Given the description of an element on the screen output the (x, y) to click on. 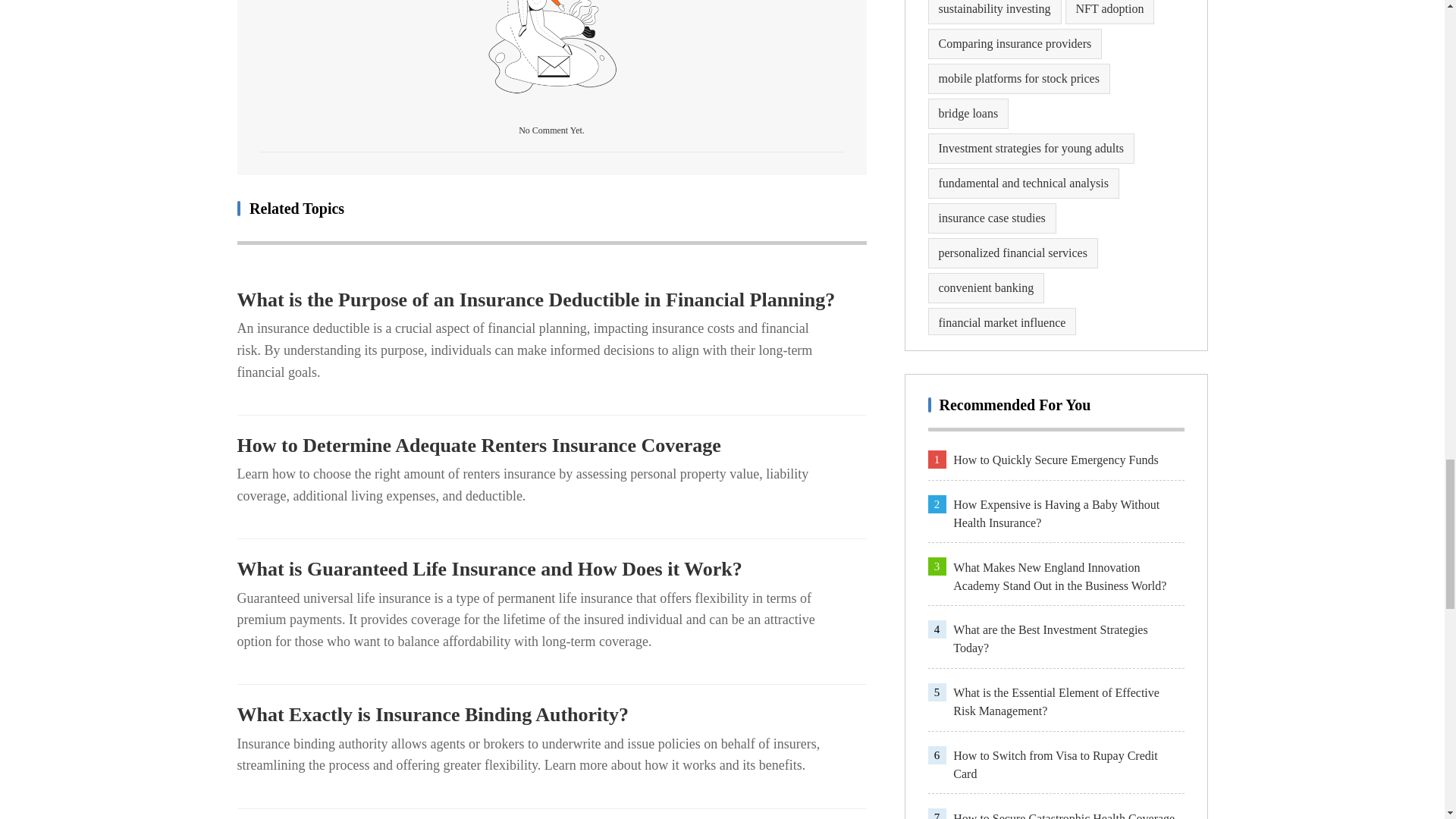
How to Determine Adequate Renters Insurance Coverage (550, 445)
What is Guaranteed Life Insurance and How Does it Work? (550, 568)
What Exactly is Insurance Binding Authority? (550, 714)
What is Guaranteed Life Insurance and How Does it Work? (550, 568)
What Exactly is Insurance Binding Authority? (550, 714)
How to Determine Adequate Renters Insurance Coverage (550, 445)
